Given the description of an element on the screen output the (x, y) to click on. 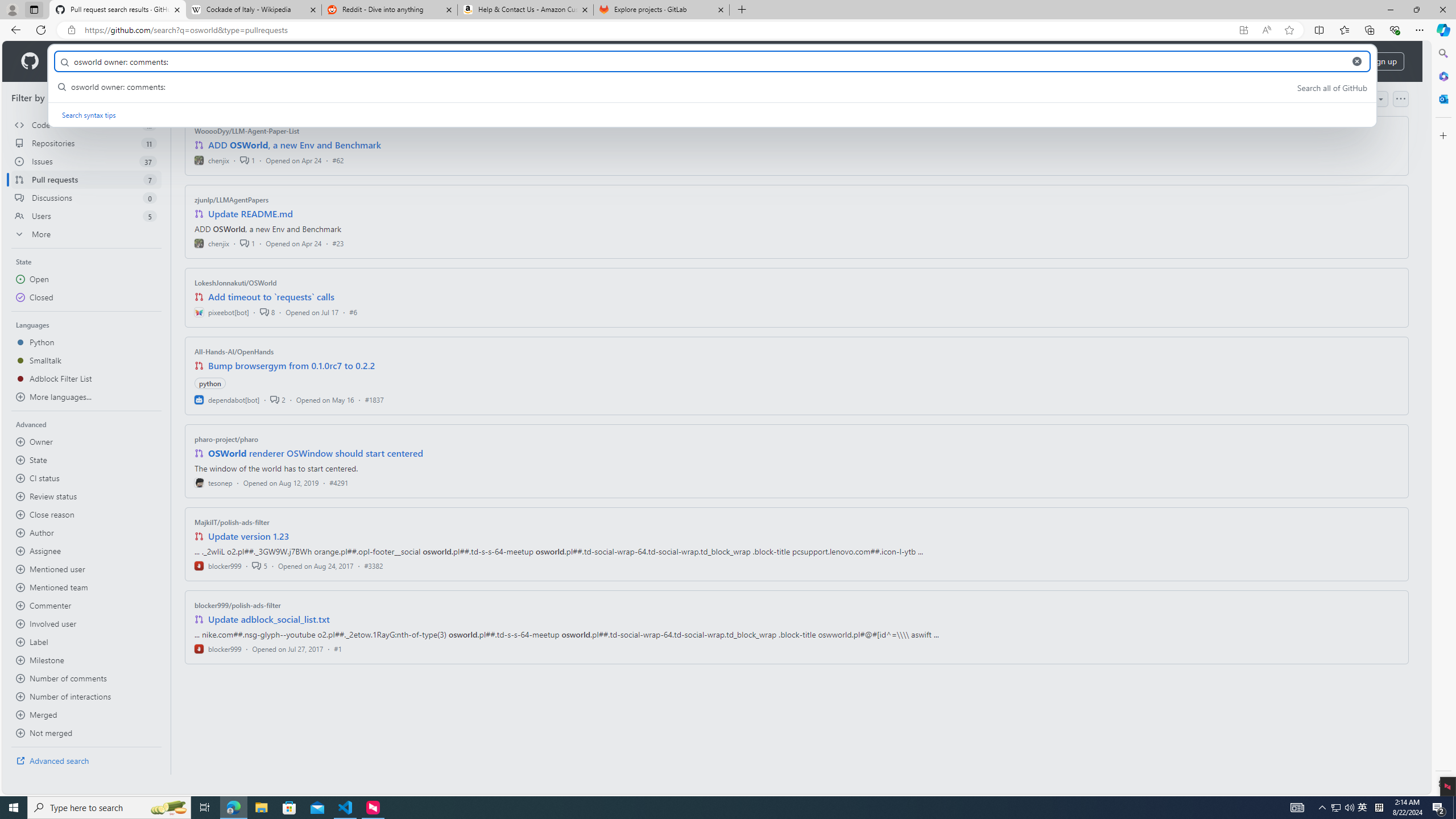
#23 (337, 242)
ADD OSWorld, a new Env and Benchmark (294, 144)
#62 (337, 159)
#6 (352, 311)
Update adblock_social_list.txt (269, 619)
dependabot[bot] (227, 398)
App available. Install GitHub (1243, 29)
More languages... (86, 397)
